Given the description of an element on the screen output the (x, y) to click on. 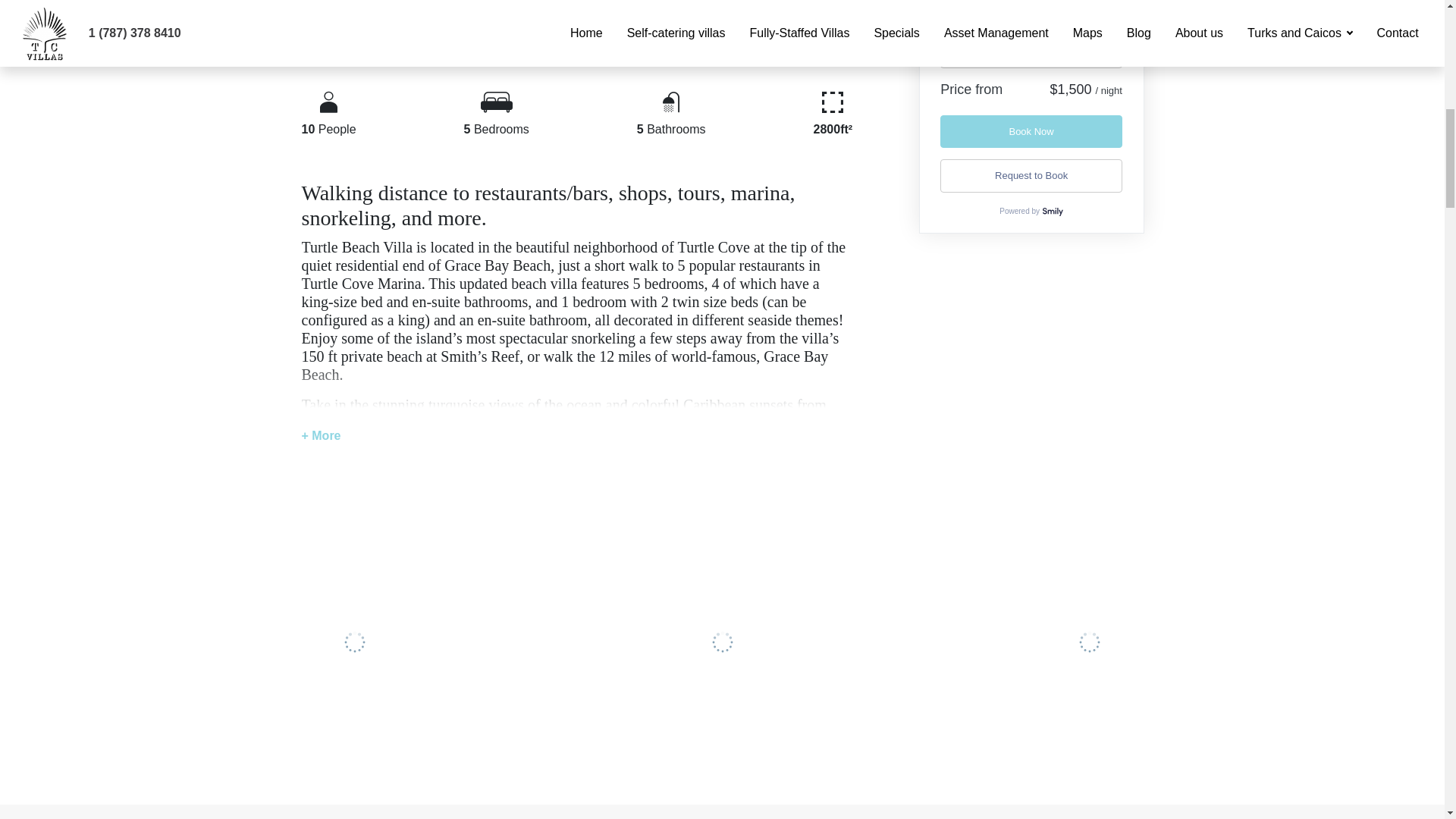
Grace Bay (368, 2)
Providenciales - Provo (463, 2)
Smily Vacation Rental Management System (1052, 211)
Request to Book (1031, 175)
Book Now (1031, 131)
